Given the description of an element on the screen output the (x, y) to click on. 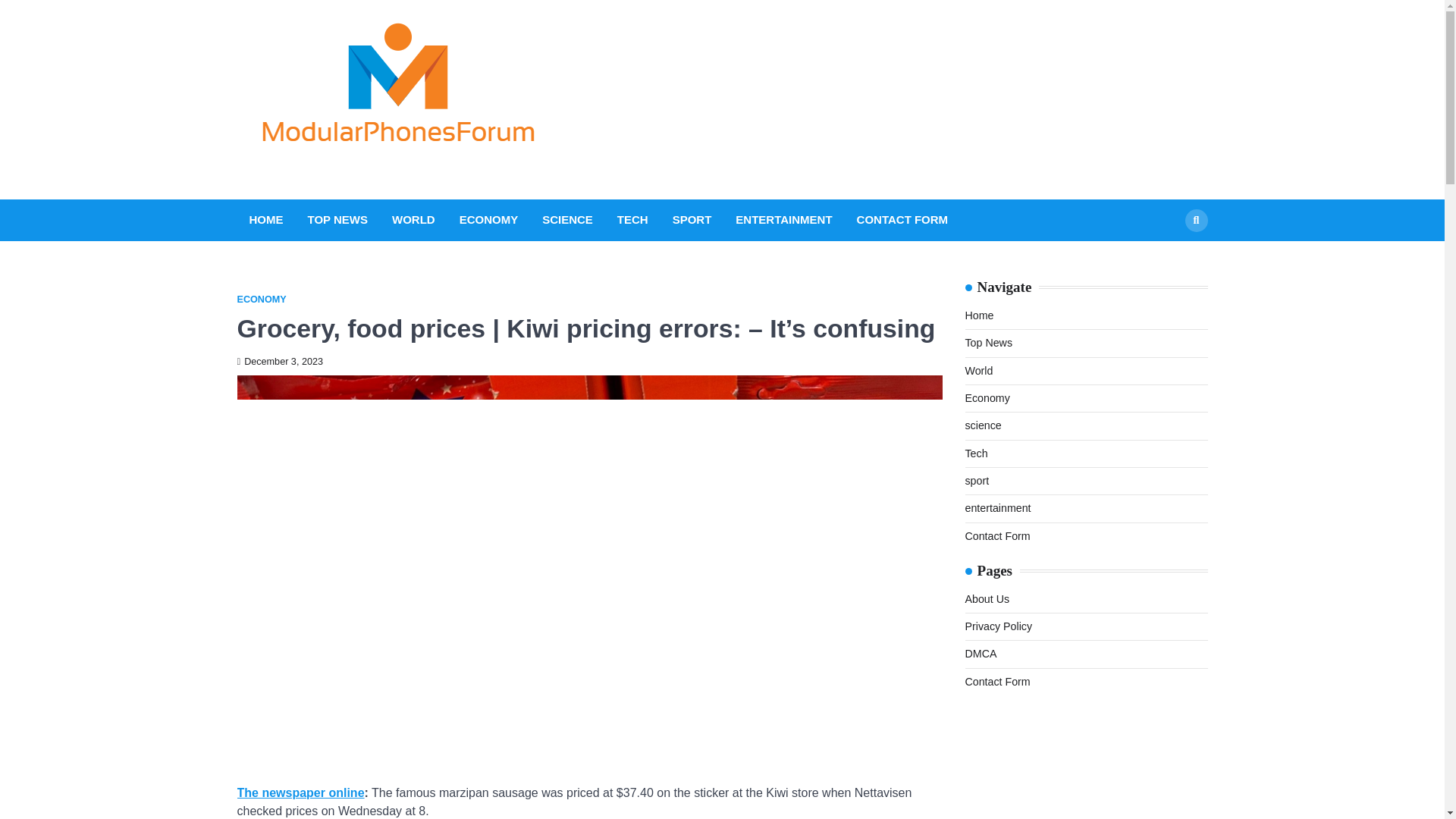
WORLD (413, 220)
The newspaper online (299, 792)
Privacy Policy (997, 625)
World (977, 370)
December 3, 2023 (279, 361)
SPORT (691, 220)
About Us (986, 598)
science (982, 425)
Top News (987, 342)
HOME (265, 220)
